Given the description of an element on the screen output the (x, y) to click on. 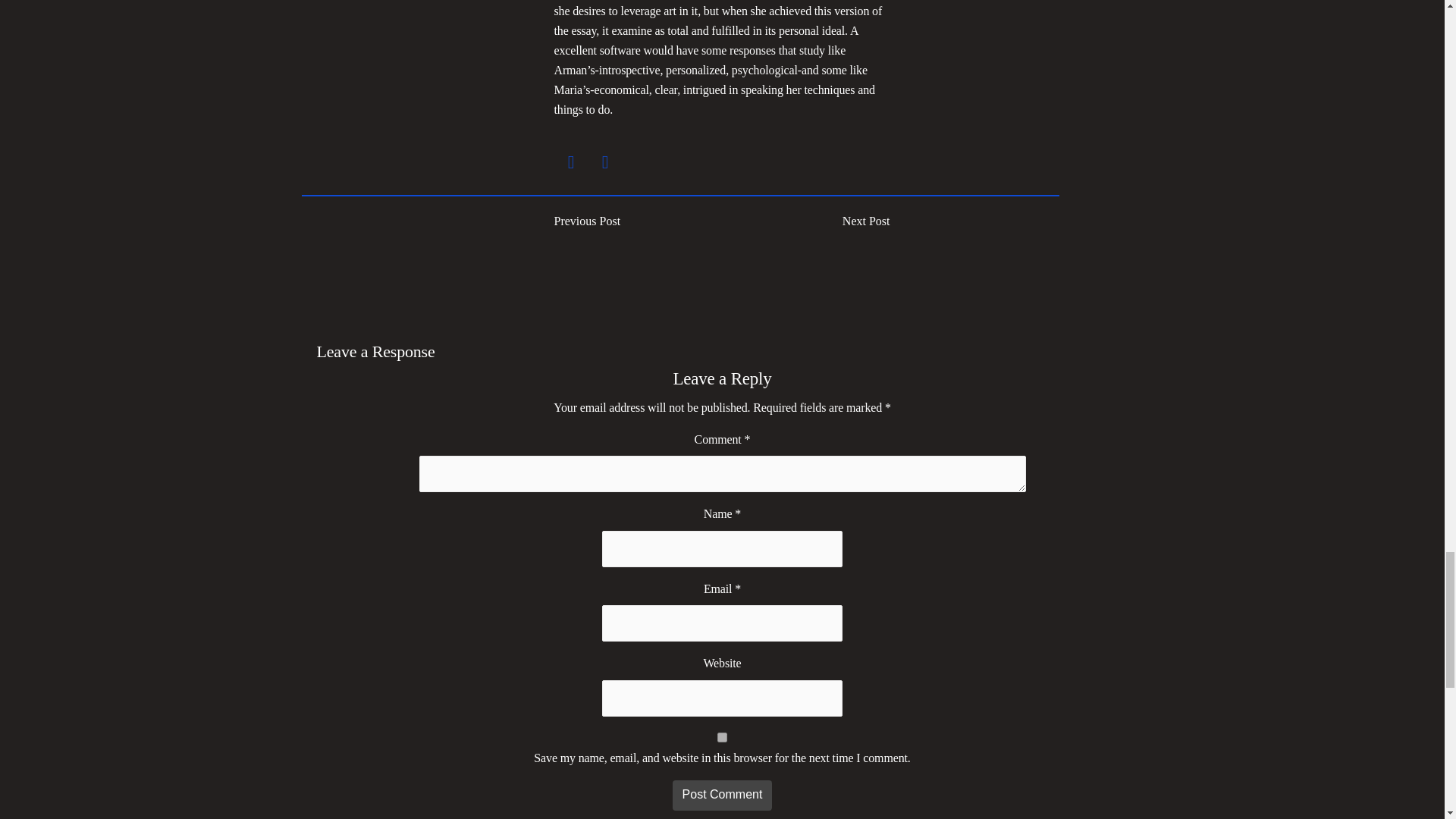
Next Post (866, 220)
Post Comment (721, 795)
Previous Post (637, 220)
yes (721, 737)
Post Comment (721, 795)
